Given the description of an element on the screen output the (x, y) to click on. 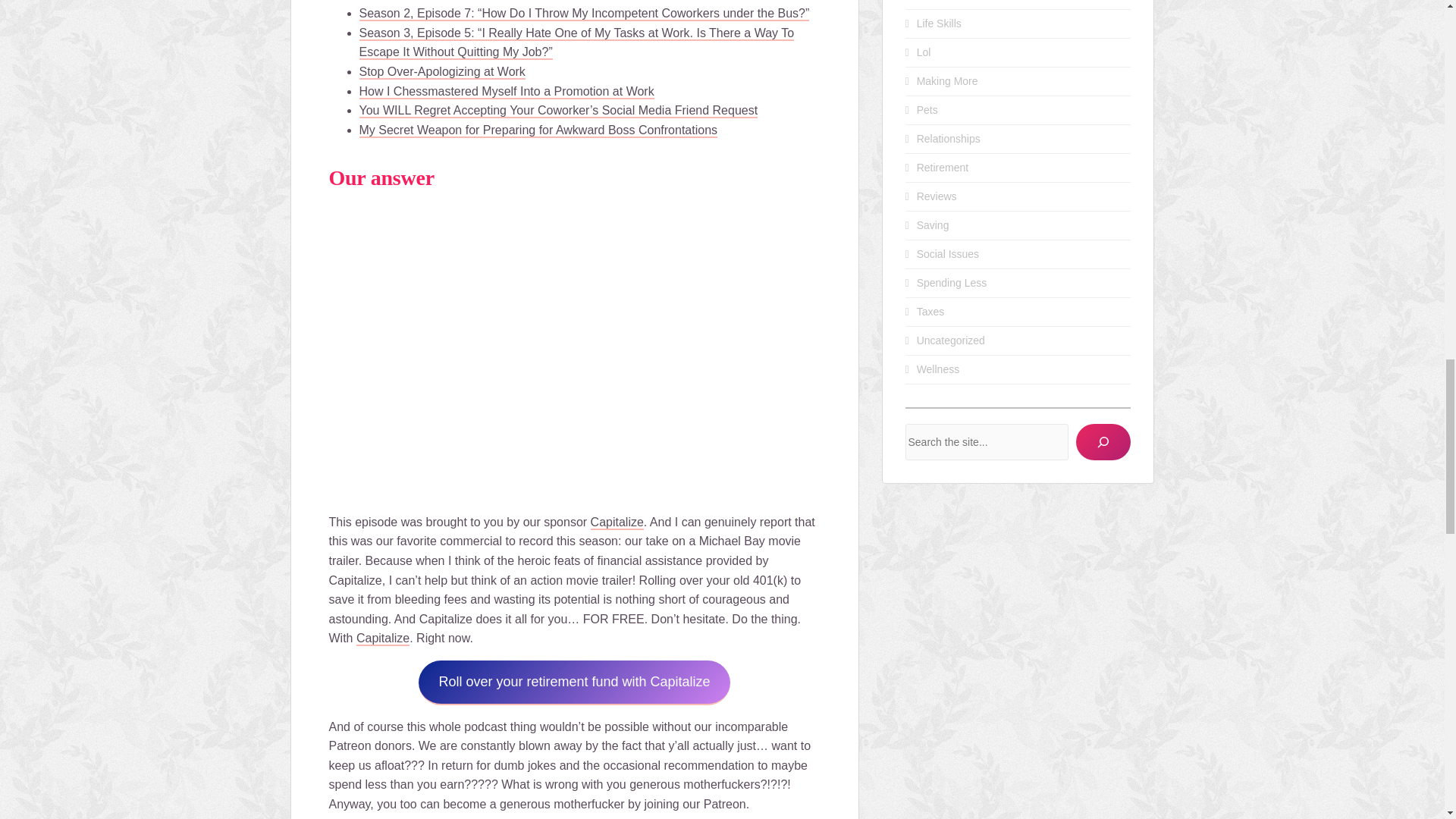
Capitalize (382, 638)
Stop Over-Apologizing at Work (442, 72)
Capitalize (617, 522)
How I Chessmastered Myself Into a Promotion at Work (506, 92)
Roll over your retirement fund with Capitalize (574, 682)
